Given the description of an element on the screen output the (x, y) to click on. 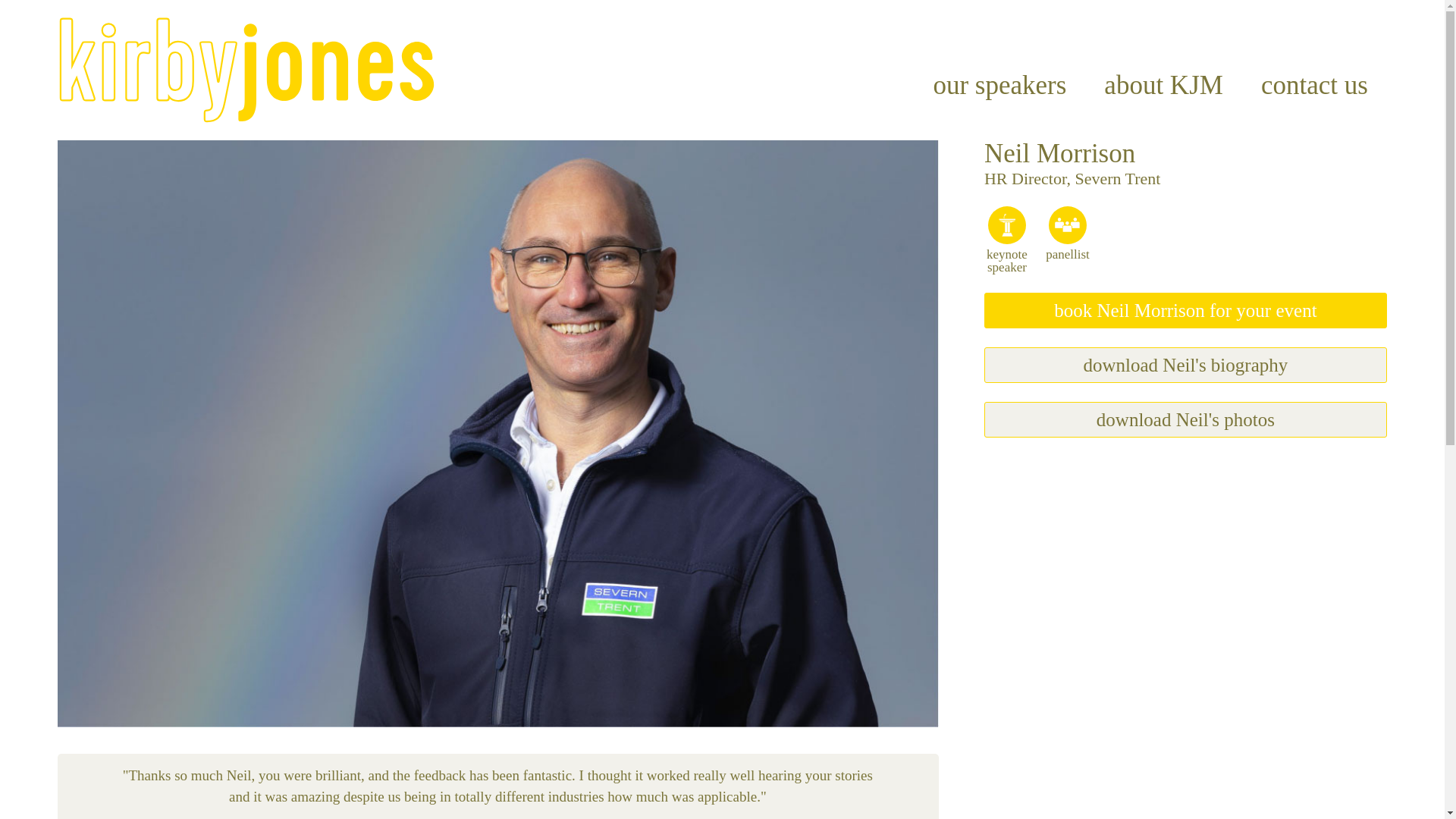
download Neil's biography (1185, 365)
contact us (1314, 85)
download Neil's photos (1185, 419)
about KJM (1162, 85)
book Neil Morrison for your event (1185, 310)
our speakers (999, 85)
